Given the description of an element on the screen output the (x, y) to click on. 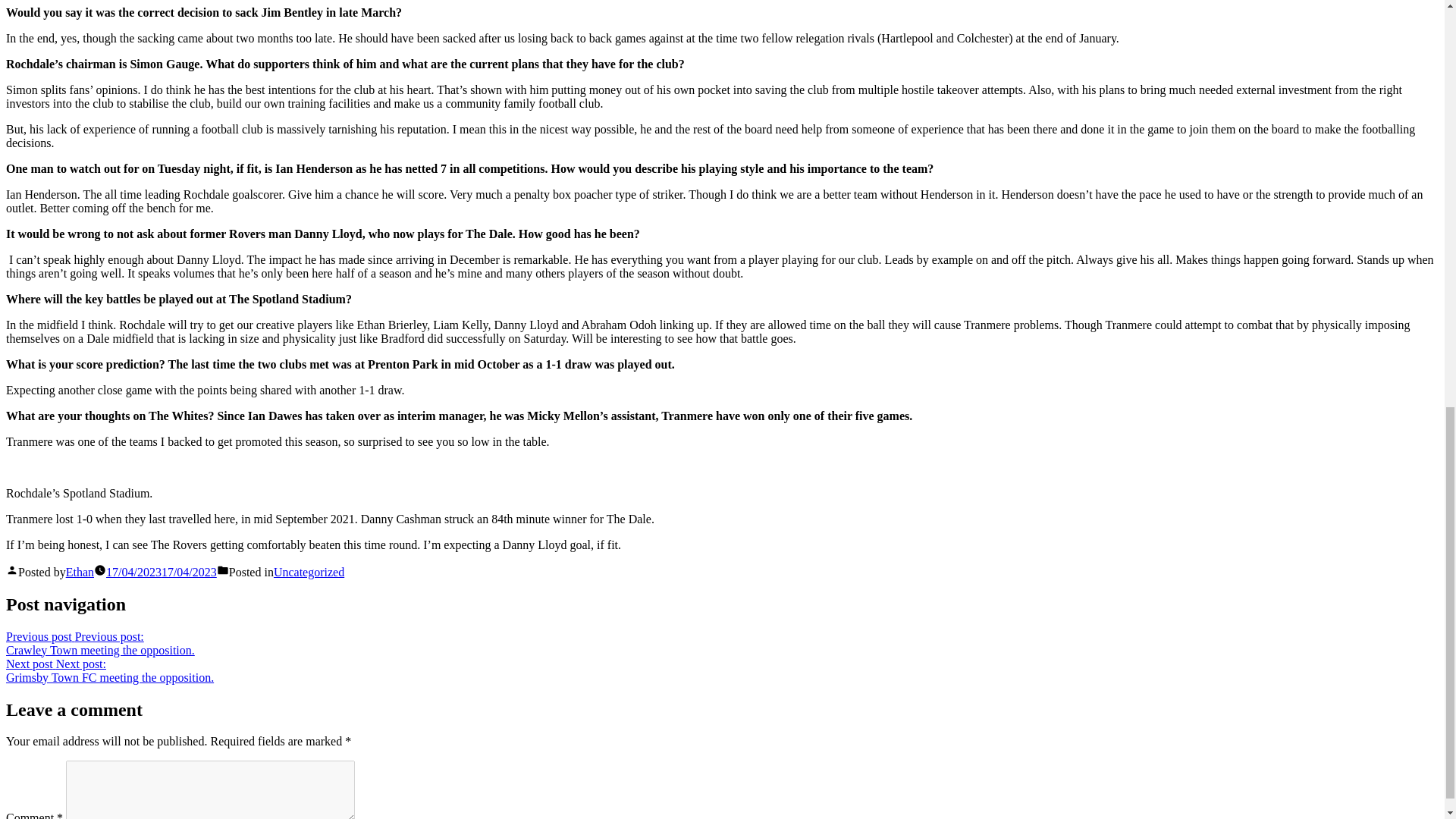
Ethan (79, 571)
Uncategorized (308, 571)
